Given the description of an element on the screen output the (x, y) to click on. 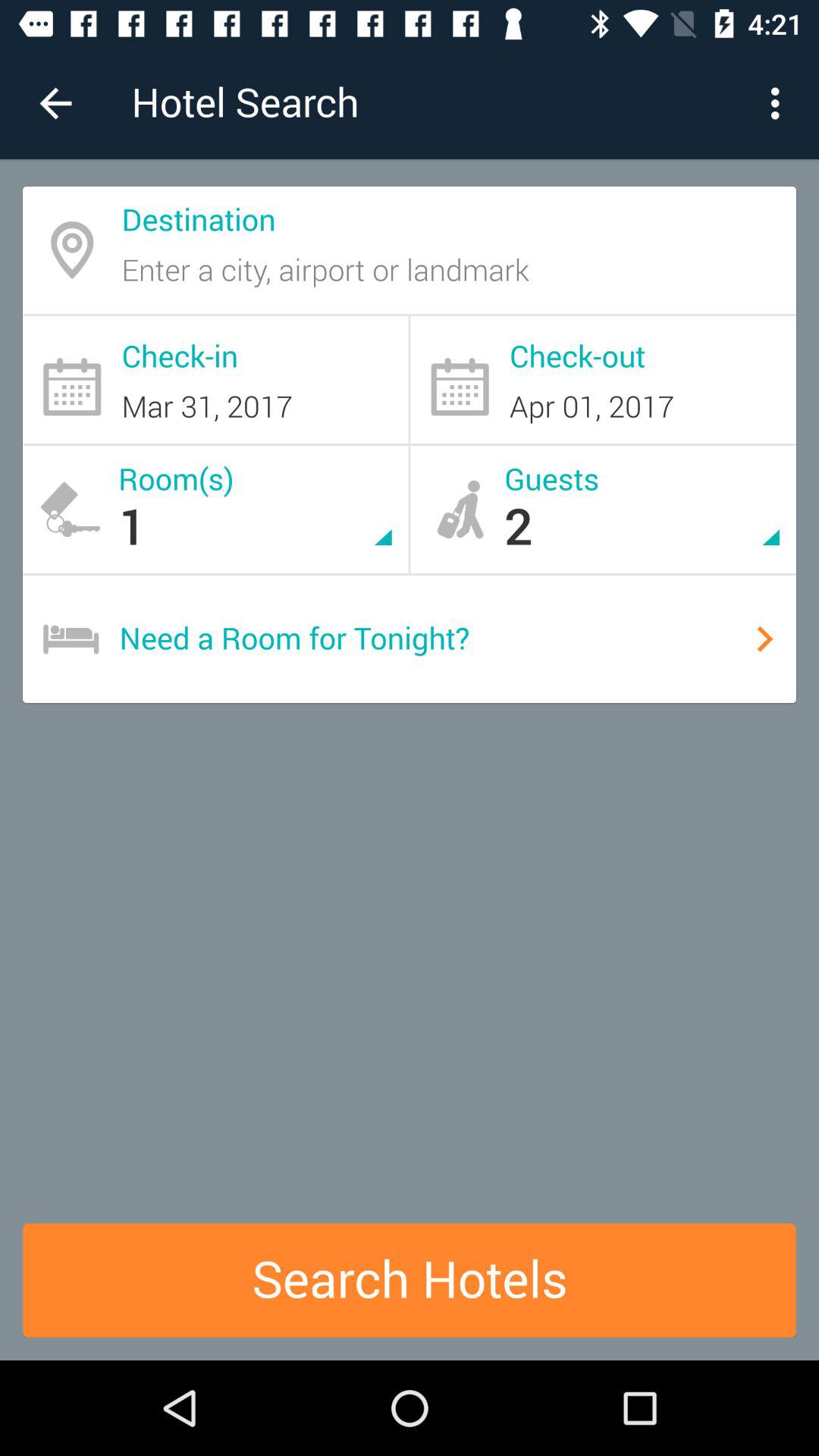
tap icon to the left of hotel search item (55, 103)
